Given the description of an element on the screen output the (x, y) to click on. 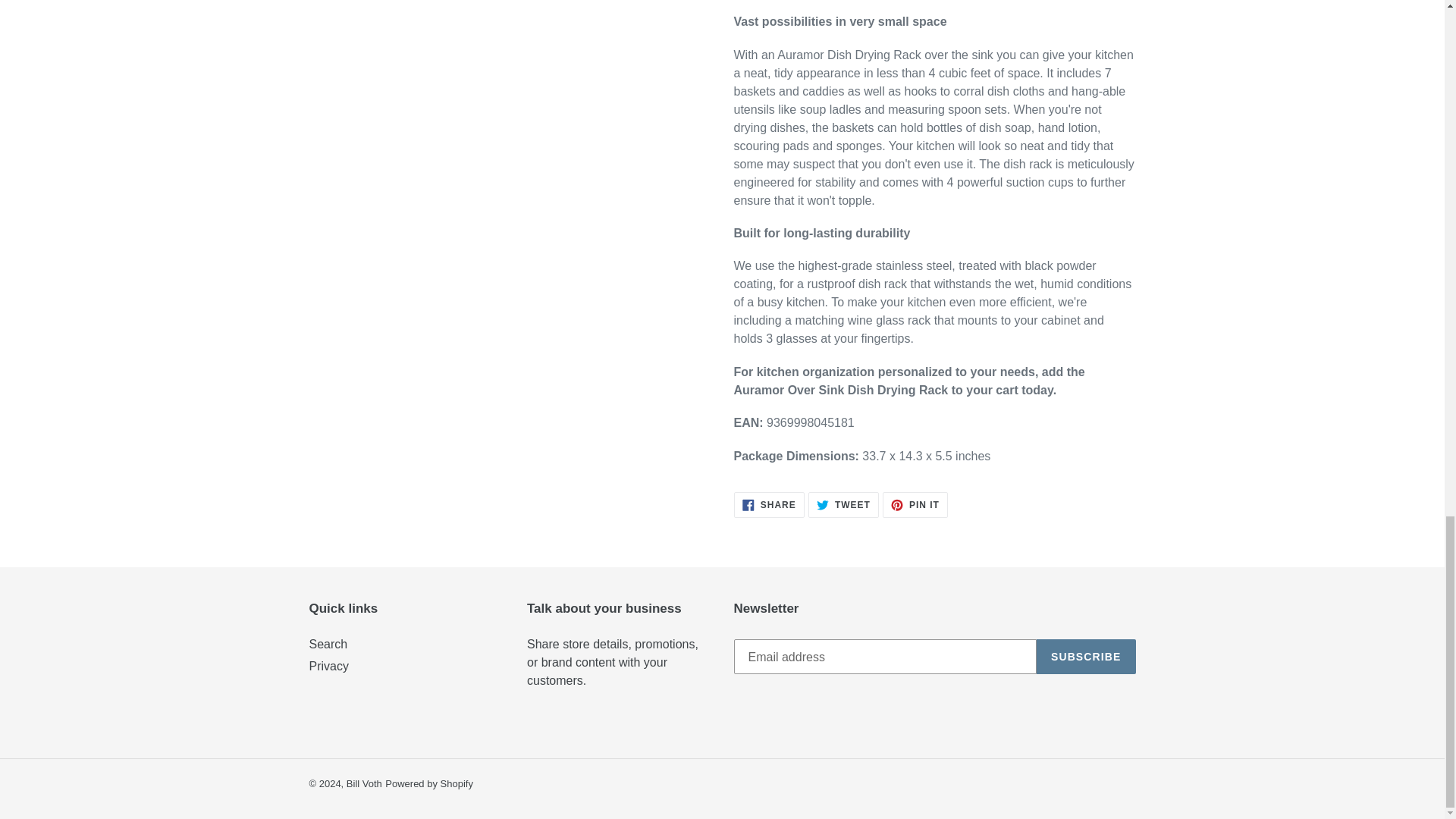
Bill Voth (769, 504)
Privacy (914, 504)
SUBSCRIBE (363, 783)
Search (843, 504)
Powered by Shopify (328, 666)
